Given the description of an element on the screen output the (x, y) to click on. 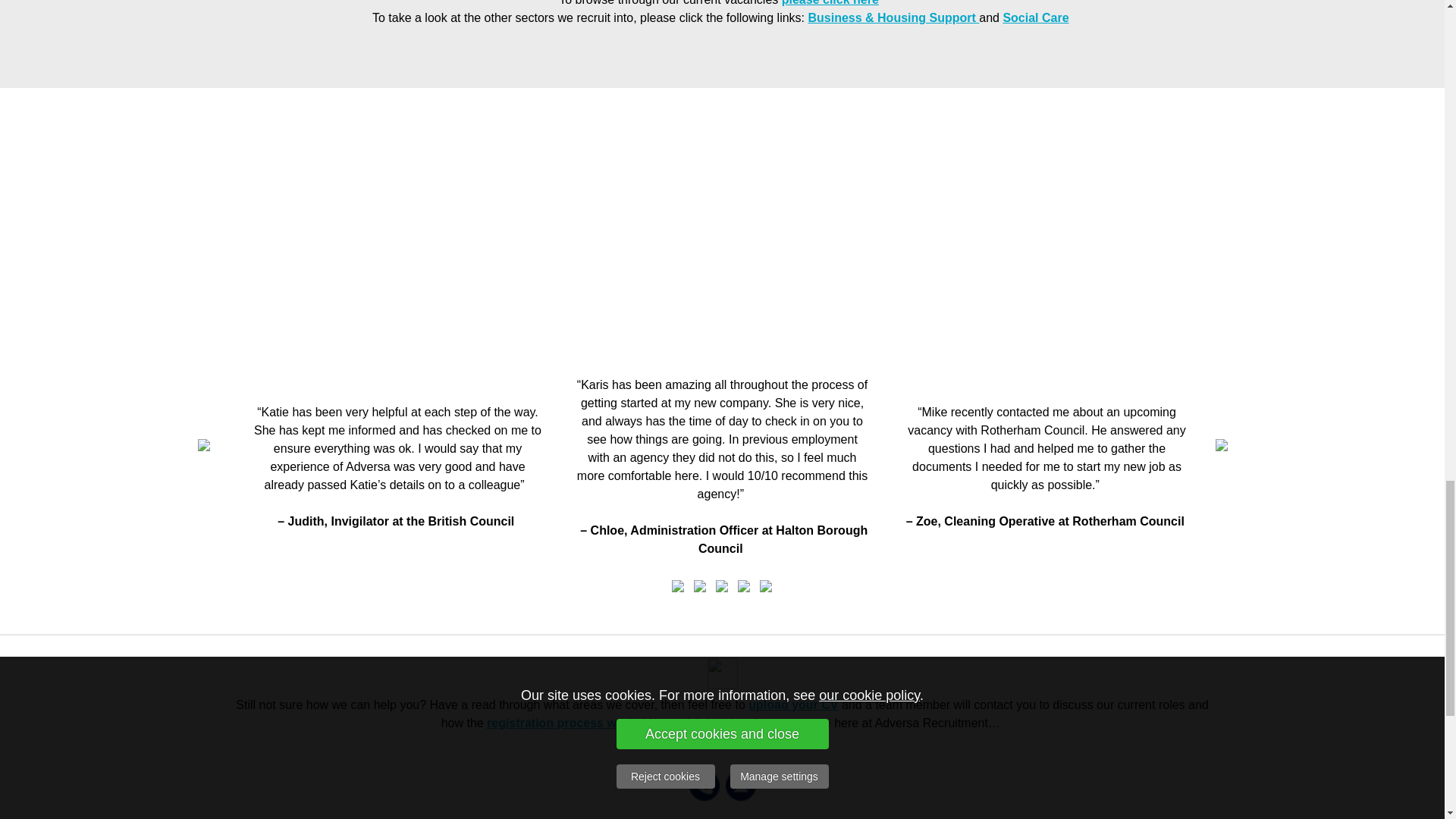
registration process works (564, 722)
upload your CV (793, 704)
Social Care (1035, 17)
please click here (830, 2)
